Given the description of an element on the screen output the (x, y) to click on. 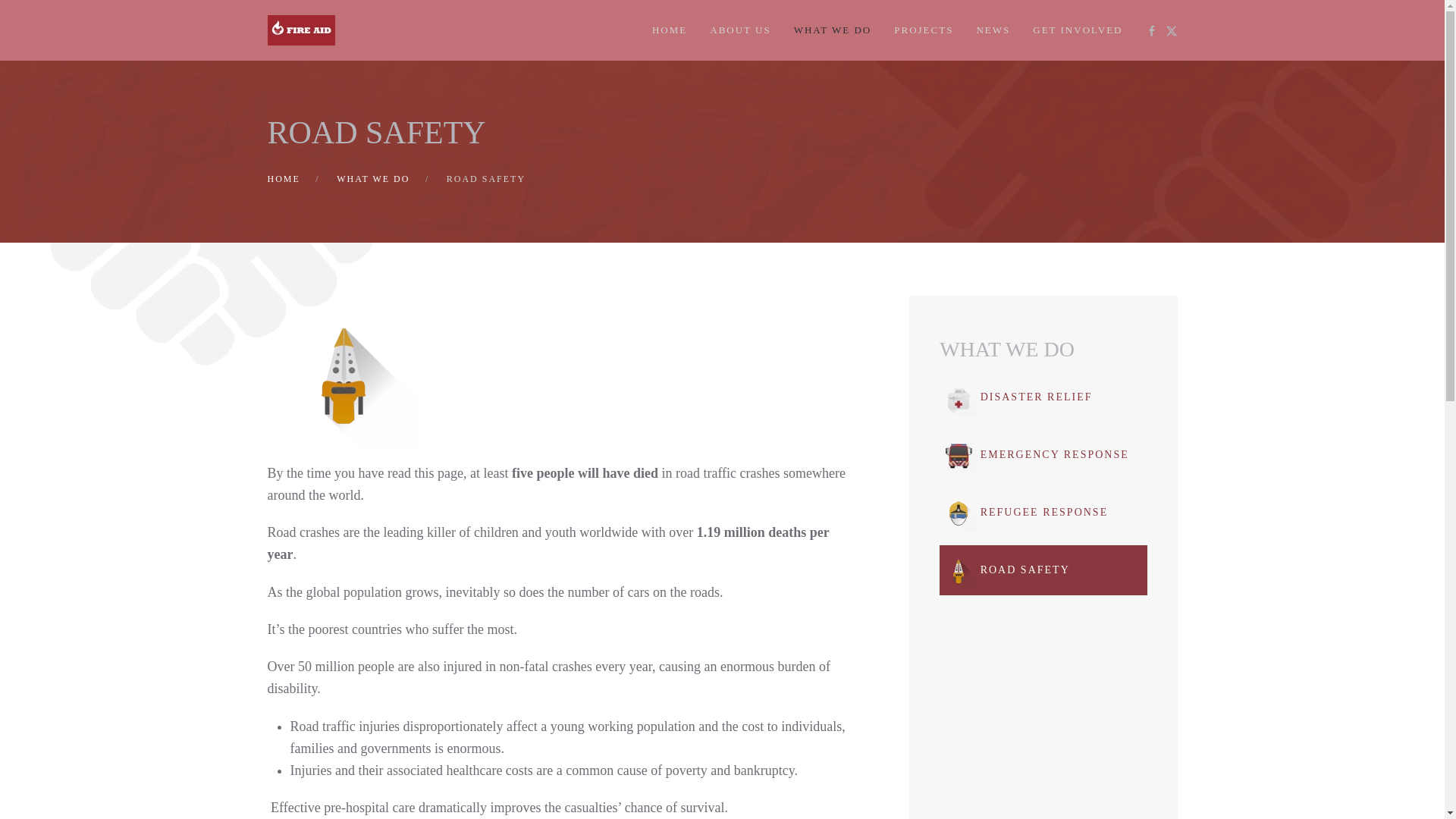
WHAT WE DO (1043, 349)
PROJECTS (923, 30)
ABOUT US (740, 30)
WHAT WE DO (832, 30)
